Given the description of an element on the screen output the (x, y) to click on. 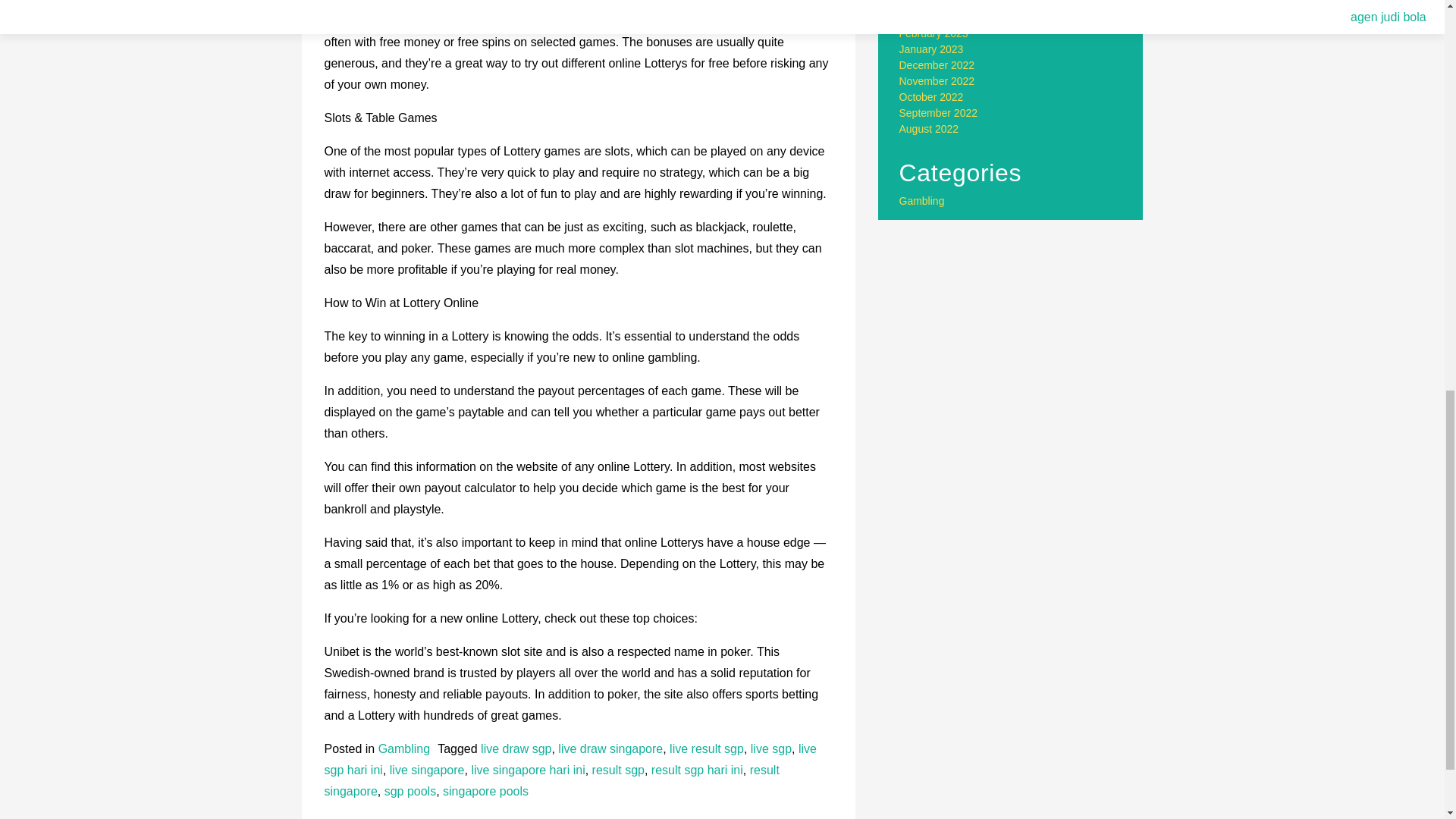
live result sgp (706, 748)
result singapore (551, 780)
live draw sgp (515, 748)
sgp pools (410, 790)
result sgp (618, 769)
live draw singapore (609, 748)
result sgp hari ini (696, 769)
live singapore hari ini (527, 769)
singapore pools (485, 790)
Gambling (403, 748)
live sgp (771, 748)
live singapore (427, 769)
live sgp hari ini (570, 759)
